Given the description of an element on the screen output the (x, y) to click on. 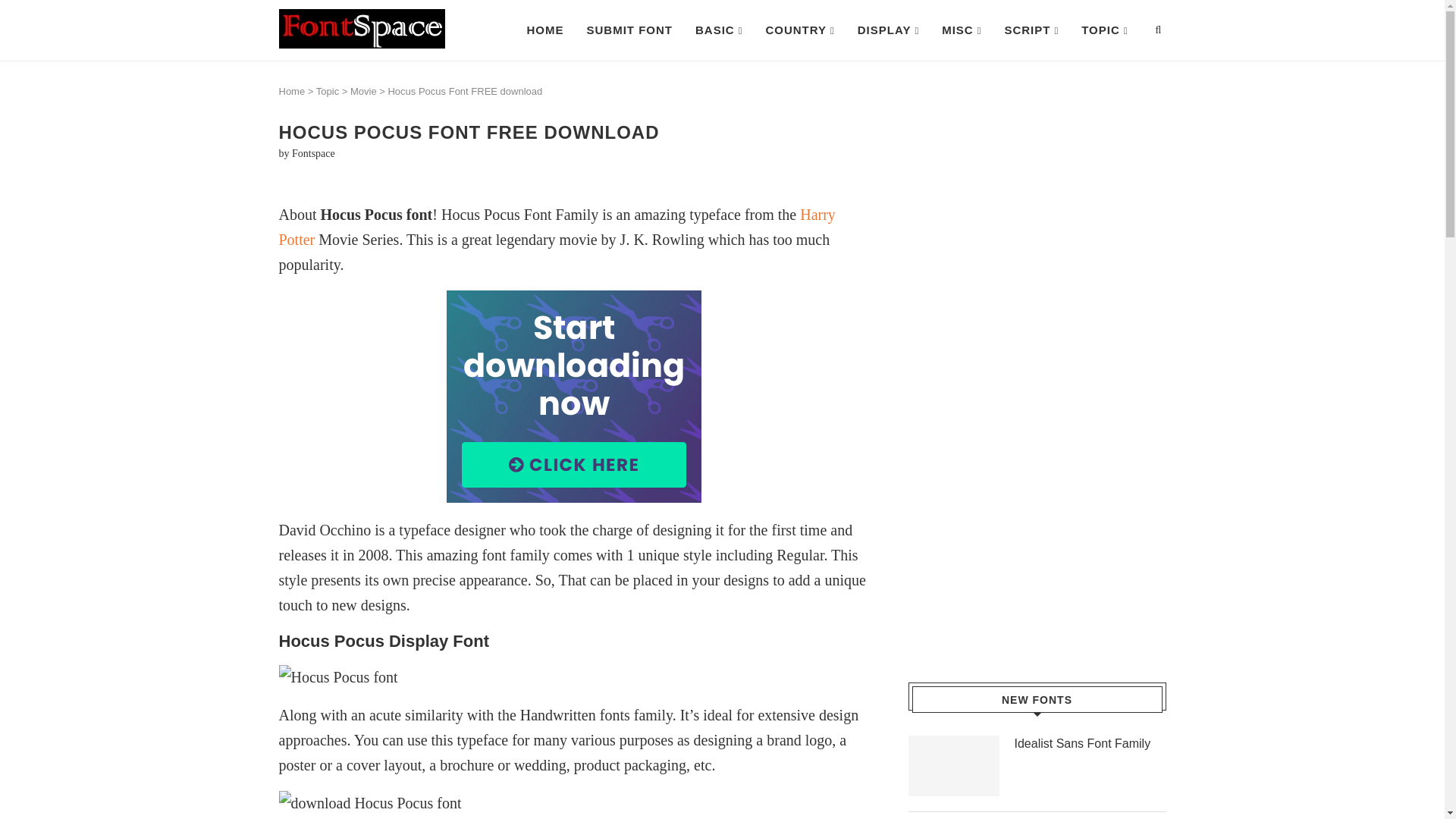
Get access to thousands of craft files (574, 396)
